Given the description of an element on the screen output the (x, y) to click on. 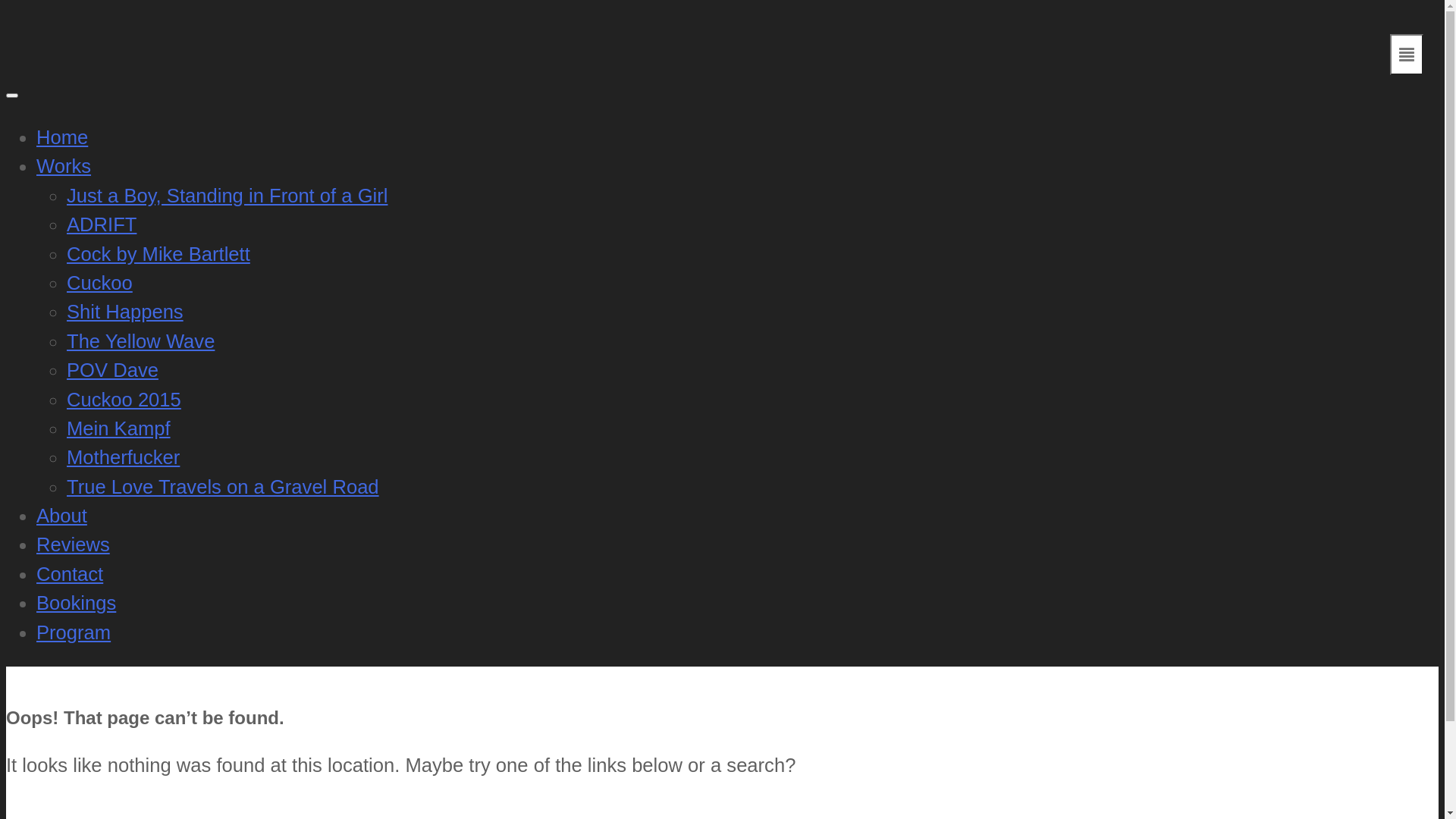
Mein Kampf Element type: text (118, 428)
Works Element type: text (63, 165)
Bookings Element type: text (76, 602)
Home Element type: text (61, 136)
Just a Boy, Standing in Front of a Girl Element type: text (226, 195)
Program Element type: text (73, 632)
Cock by Mike Bartlett Element type: text (158, 253)
Motherfucker Element type: text (122, 456)
True Love Travels on a Gravel Road Element type: text (222, 486)
The Yellow Wave Element type: text (140, 340)
About Element type: text (61, 515)
POV Dave Element type: text (112, 369)
ADRIFT Element type: text (101, 224)
Contact Element type: text (69, 573)
Cuckoo 2015 Element type: text (123, 398)
Cuckoo Element type: text (99, 282)
Shit Happens Element type: text (124, 311)
Reviews Element type: text (72, 544)
